Given the description of an element on the screen output the (x, y) to click on. 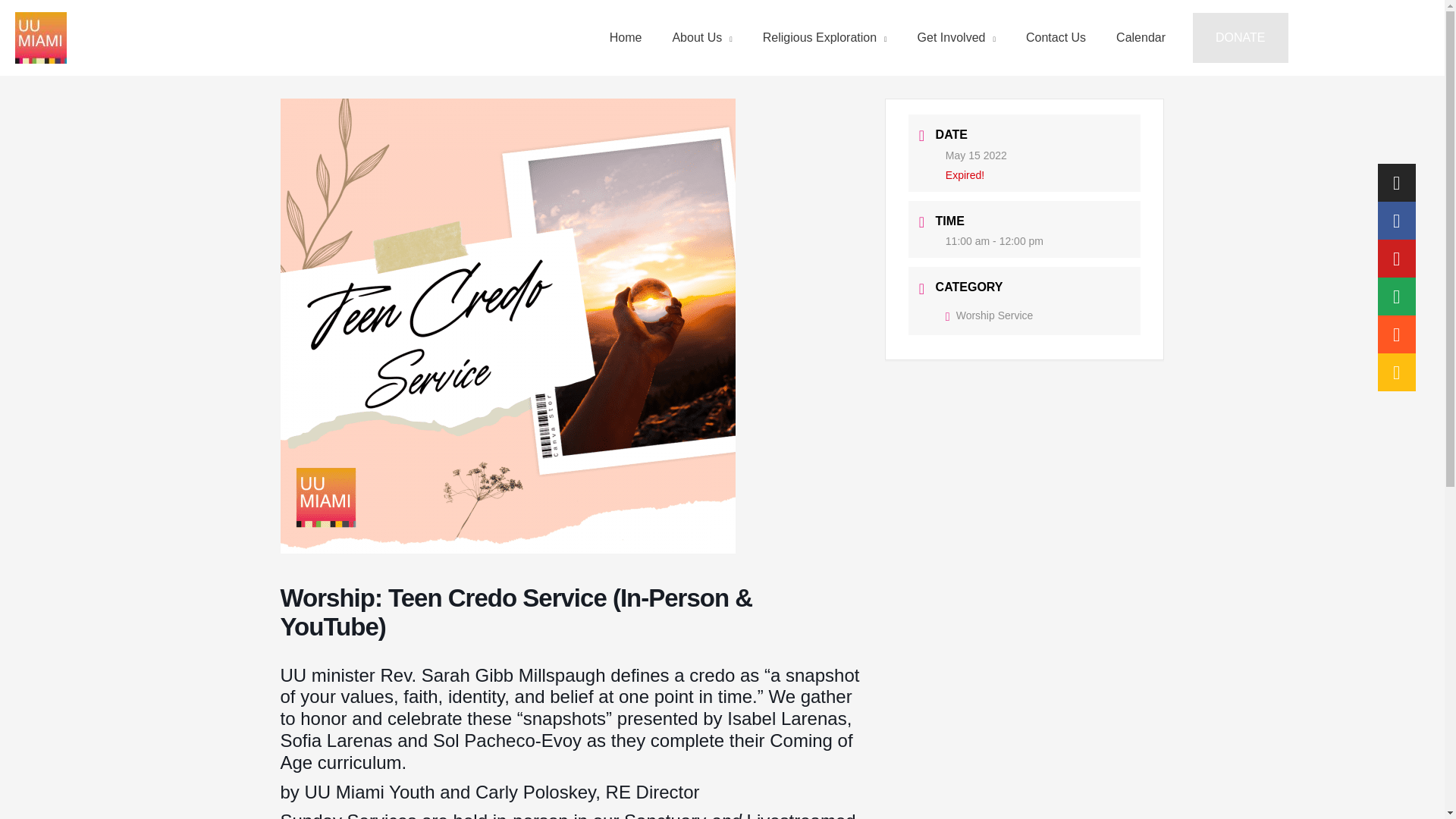
Calendar-alt (1396, 371)
Home (626, 38)
Envelope (1396, 296)
Youtube (1396, 258)
Worship Service (988, 315)
Religious Exploration (825, 38)
Get Involved (956, 38)
DONATE (1239, 38)
Facebook-f (1396, 220)
About Us (701, 38)
Contact Us (1055, 38)
Instagram (1396, 182)
Blogger (1396, 333)
Calendar (1140, 38)
